Given the description of an element on the screen output the (x, y) to click on. 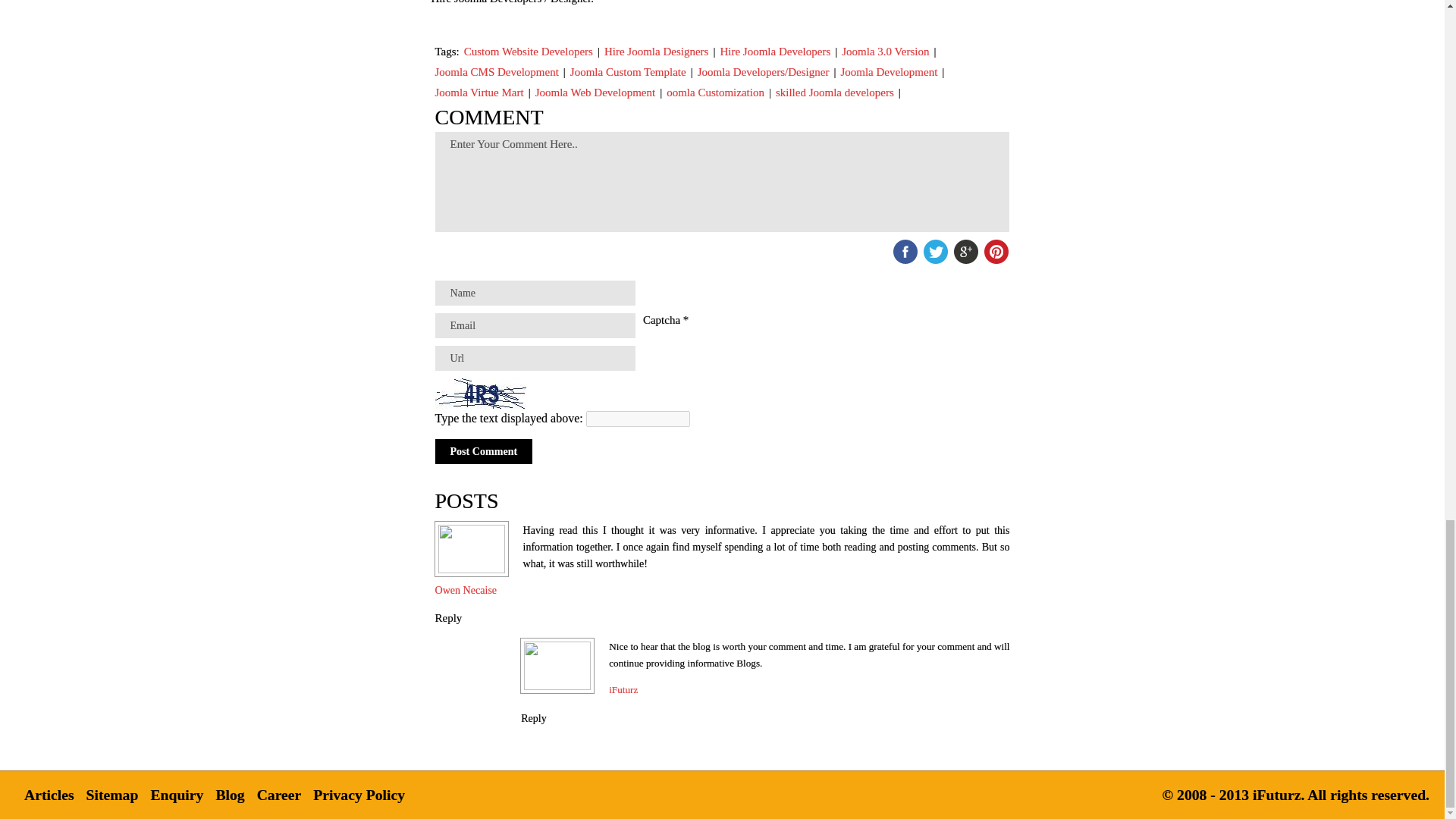
Email (534, 325)
Post Comment (483, 451)
Url (534, 358)
Name (534, 292)
